Given the description of an element on the screen output the (x, y) to click on. 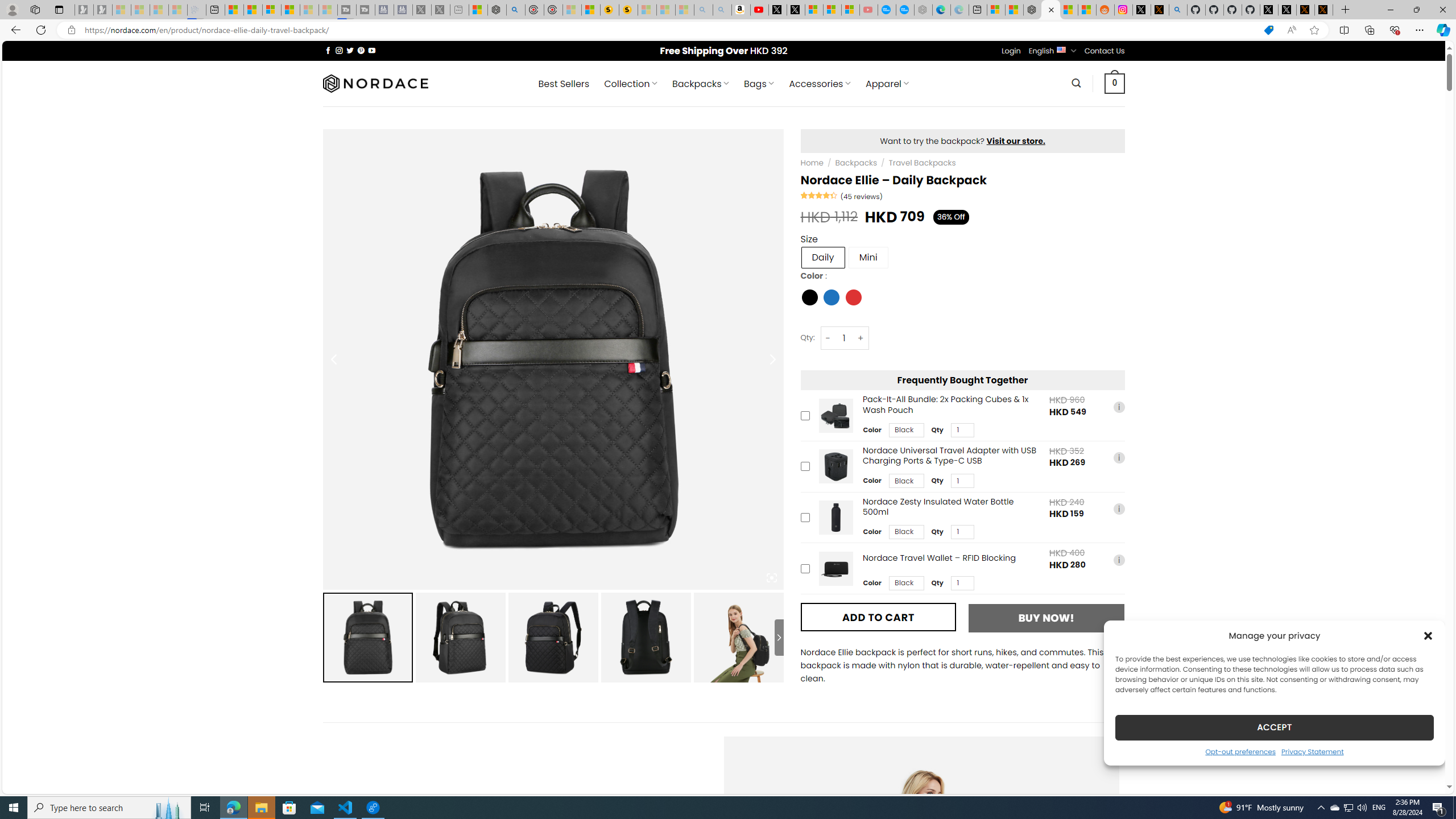
Opt-out preferences (1240, 750)
(45 reviews) (861, 196)
i (1118, 559)
Privacy Statement (1312, 750)
Follow on Facebook (327, 49)
- (827, 337)
English (1061, 49)
